Given the description of an element on the screen output the (x, y) to click on. 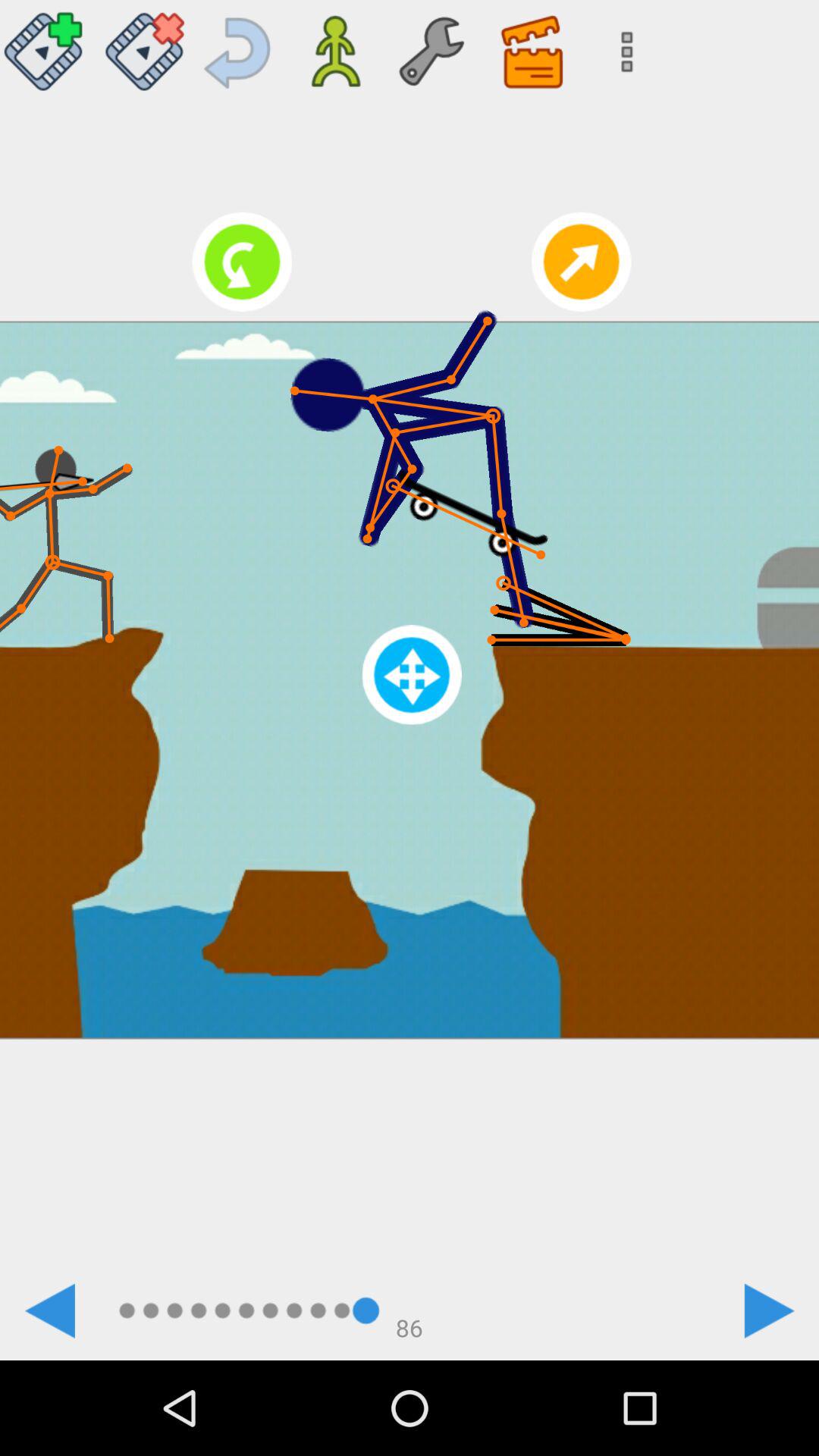
the icon represented to goto next image (769, 1310)
